Given the description of an element on the screen output the (x, y) to click on. 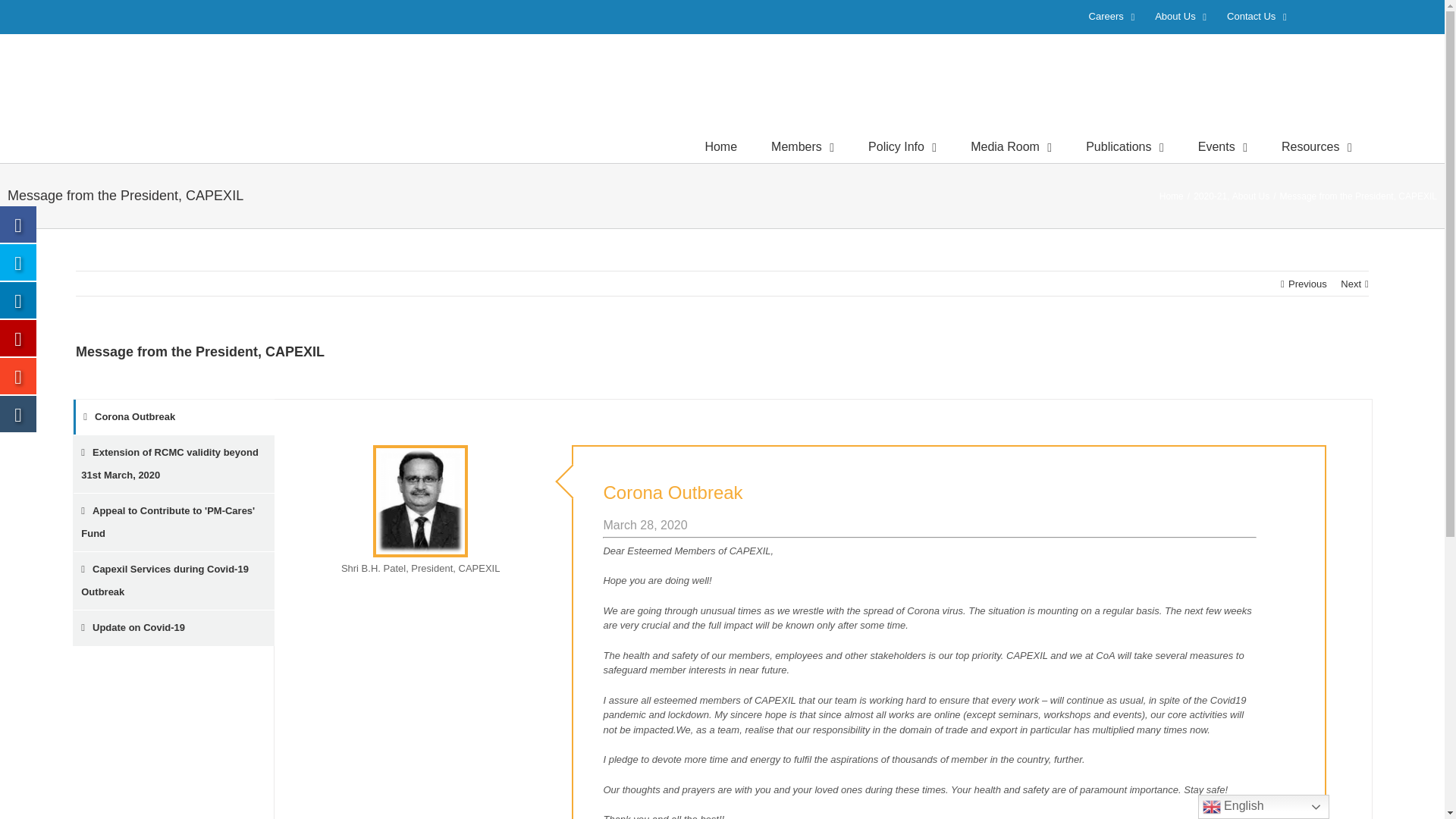
Policy Info (901, 145)
Careers (1111, 16)
Members (802, 145)
Contact Us (1257, 16)
About Us (1179, 16)
Home (720, 145)
